Given the description of an element on the screen output the (x, y) to click on. 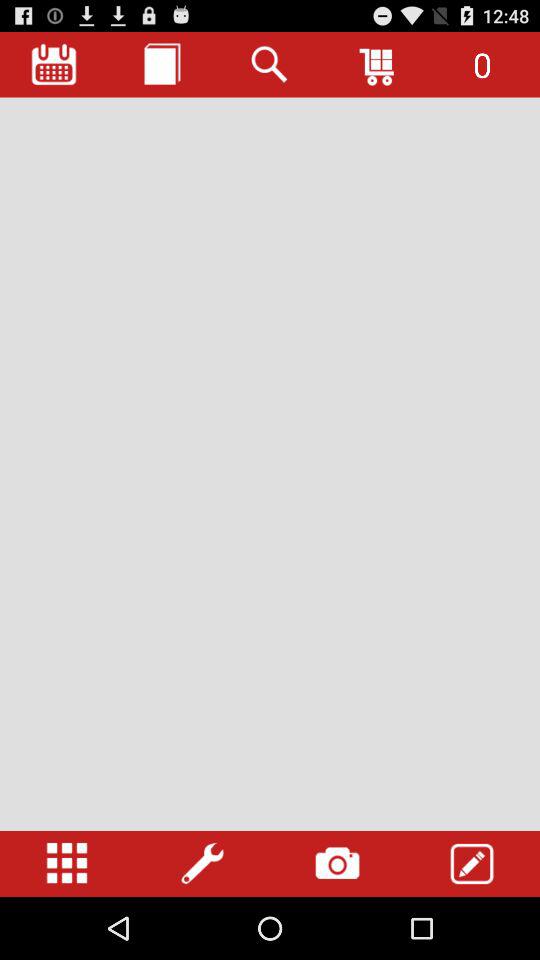
add to calendar (53, 64)
